Given the description of an element on the screen output the (x, y) to click on. 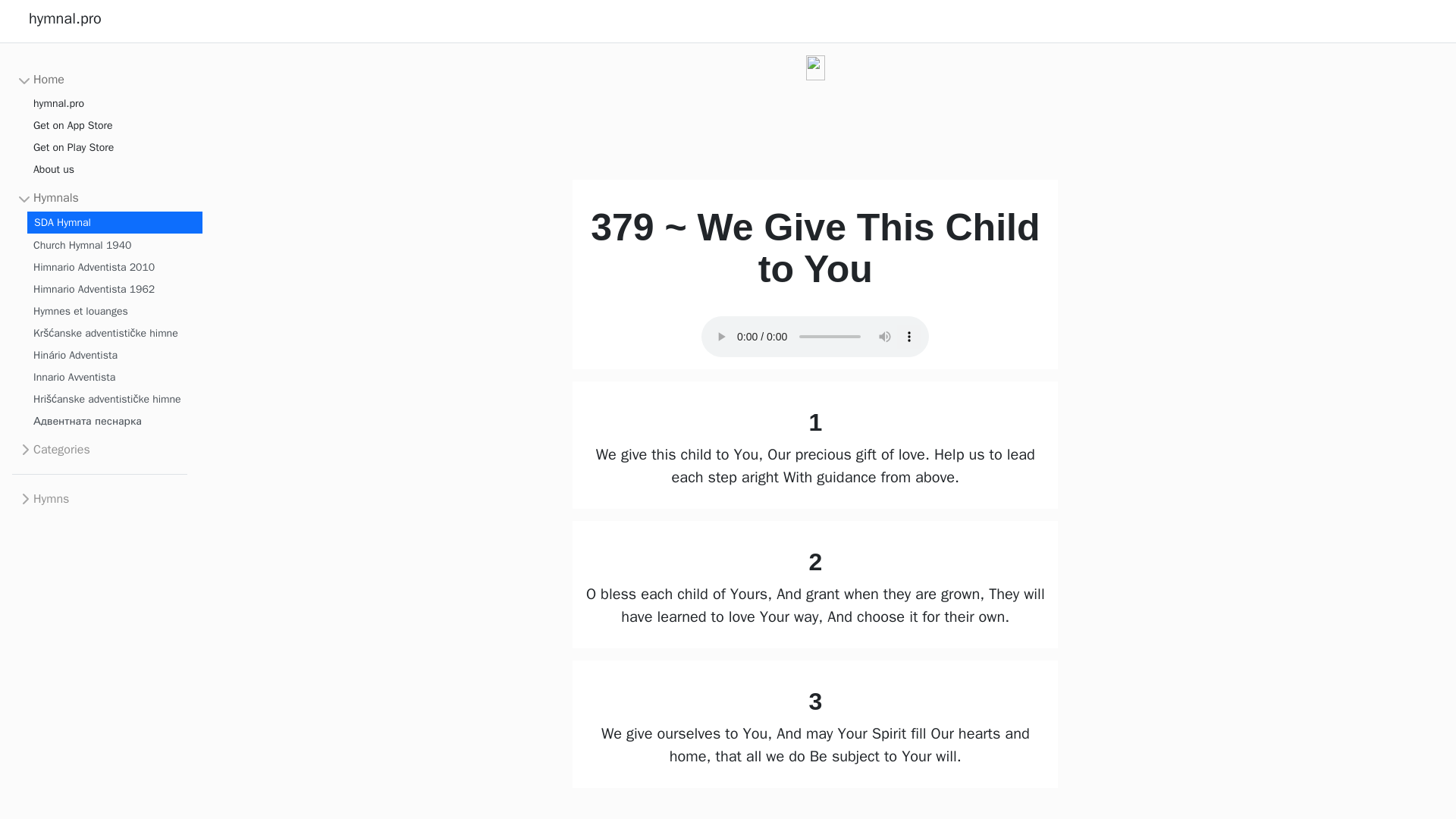
Categories (53, 449)
Innario Avventista (114, 376)
Church Hymnal 1940 (114, 245)
Get on Play Store (73, 147)
Get on App Store (73, 125)
About us (53, 168)
Himnario Adventista 2010 (114, 267)
Hymnes et louanges (114, 311)
SDA Hymnal (114, 222)
Hymnals (47, 197)
Himnario Adventista 1962 (114, 289)
hymnal.pro (58, 103)
Home (40, 79)
